Given the description of an element on the screen output the (x, y) to click on. 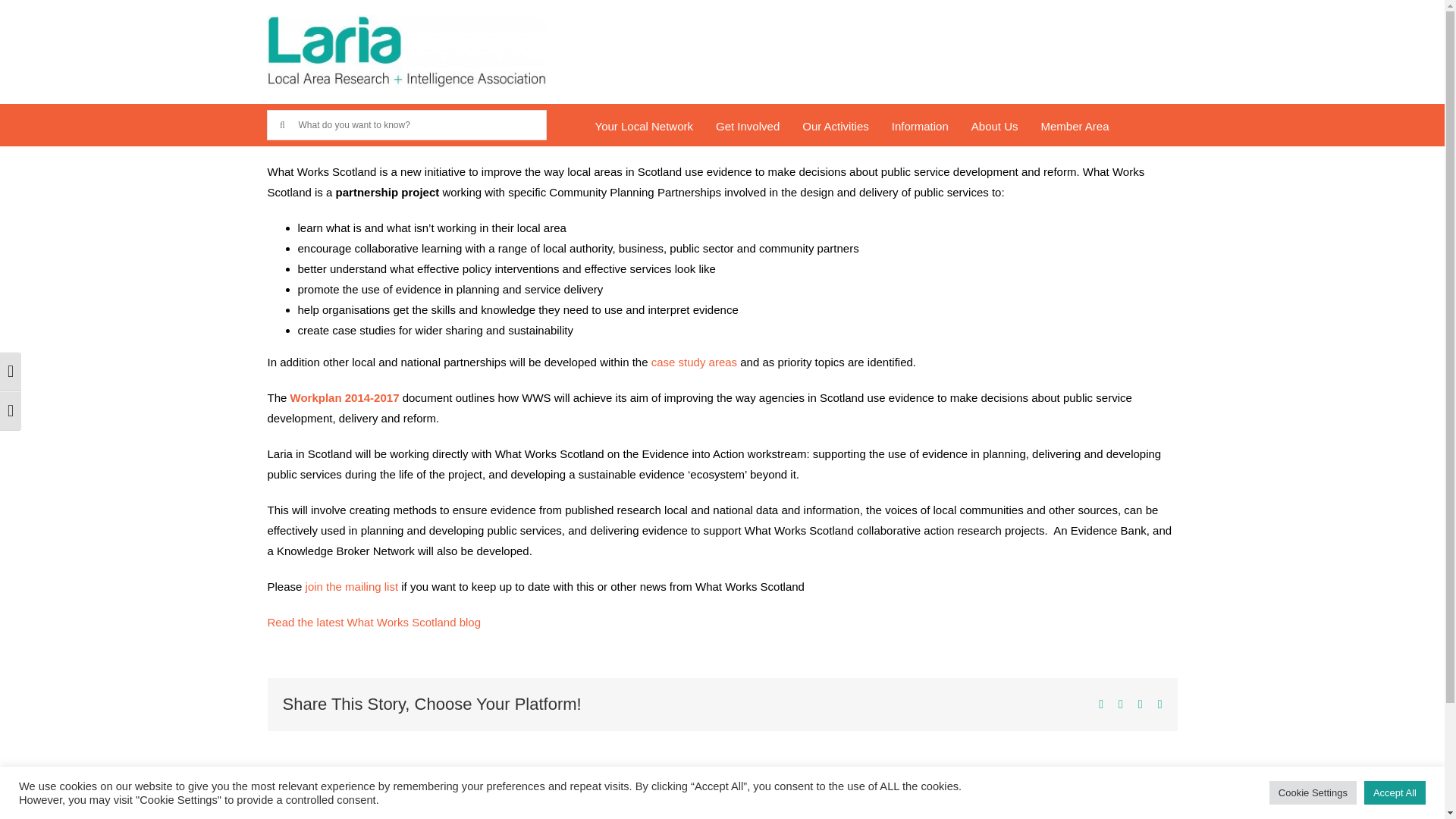
About Us (994, 126)
Information (919, 126)
Your Local Network (643, 126)
Toggle High Contrast (10, 371)
Our Activities (835, 126)
Get Involved (747, 126)
Toggle Font size (10, 410)
